Given the description of an element on the screen output the (x, y) to click on. 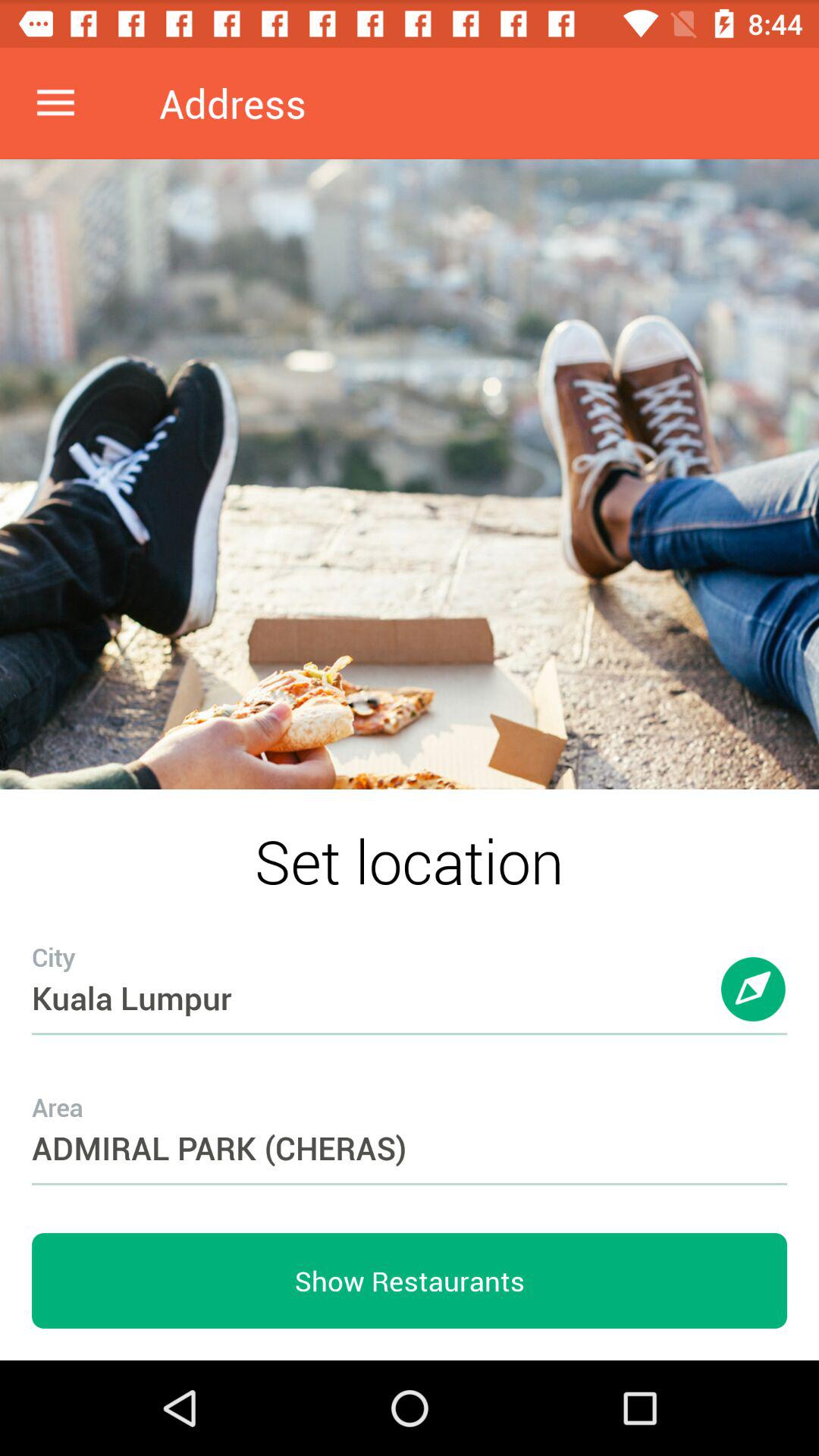
launch item at the top left corner (55, 103)
